Given the description of an element on the screen output the (x, y) to click on. 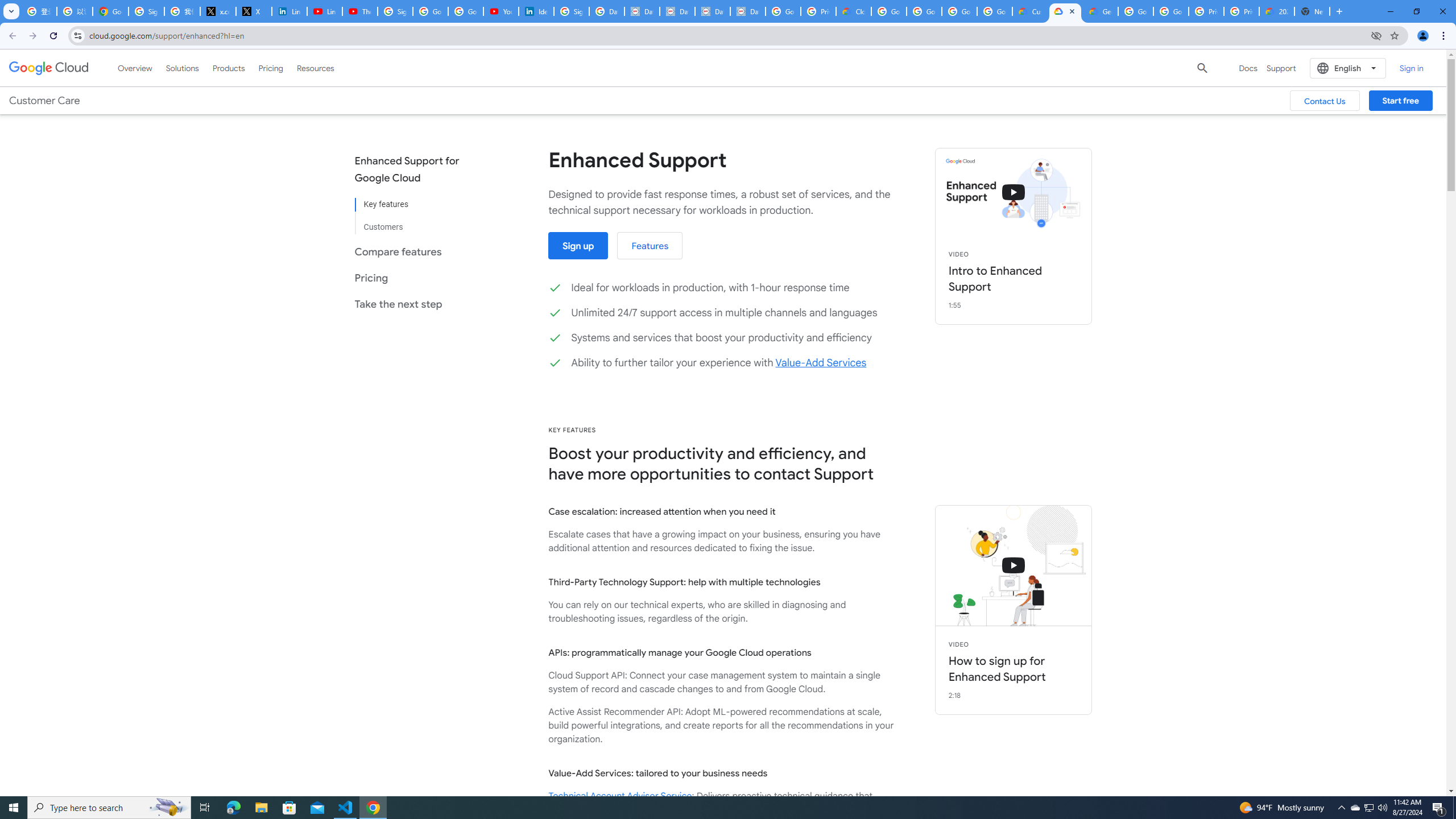
Google Cloud (48, 67)
Google Cloud Platform (1135, 11)
X (253, 11)
Compare features (414, 251)
Google Cloud Platform (1170, 11)
